Given the description of an element on the screen output the (x, y) to click on. 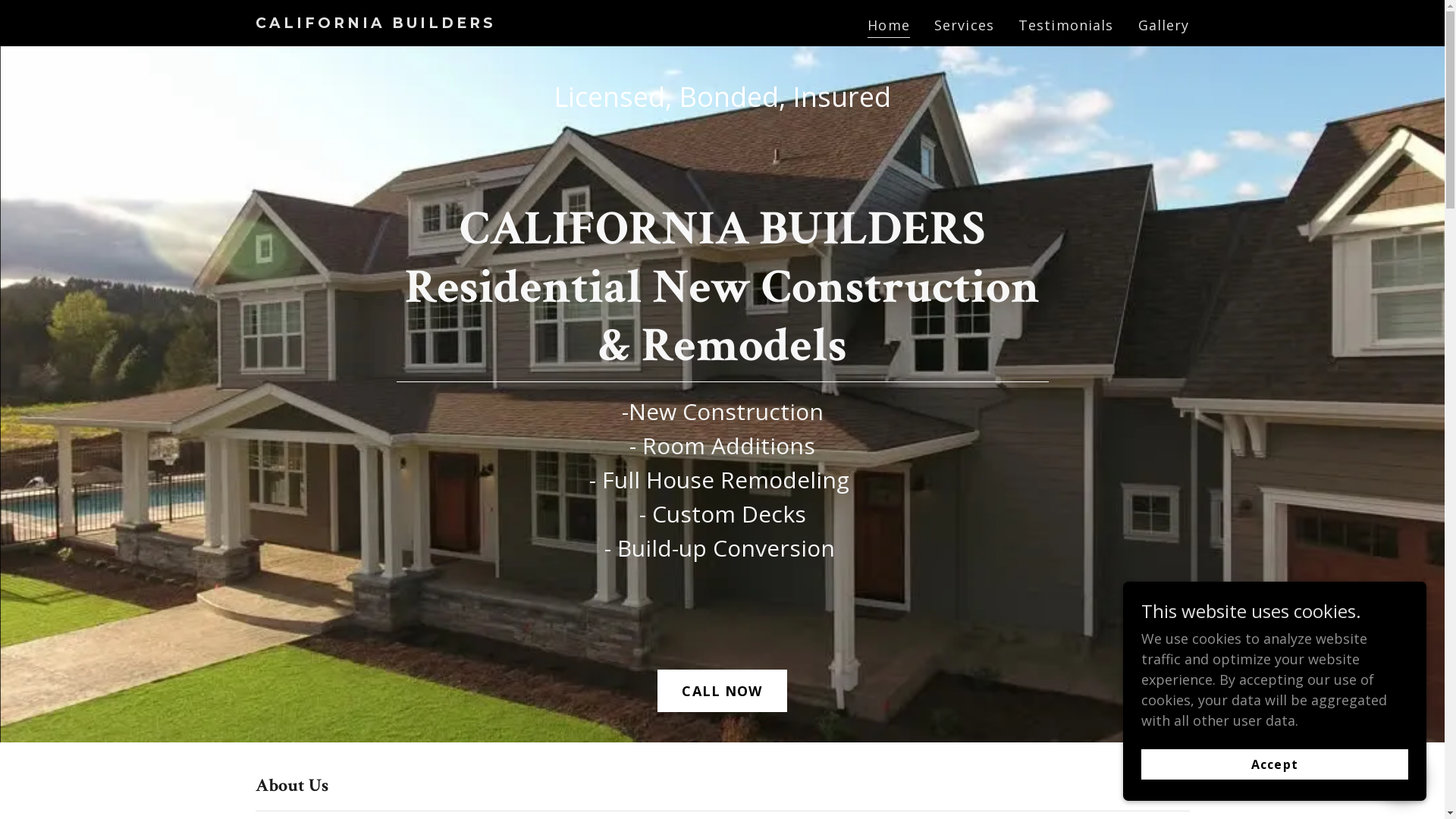
Services Element type: text (963, 24)
Home Element type: text (888, 26)
Accept Element type: text (1274, 764)
CALIFORNIA BUILDERS Element type: text (417, 22)
CALL NOW Element type: text (721, 690)
Testimonials Element type: text (1065, 24)
Gallery Element type: text (1163, 24)
